Given the description of an element on the screen output the (x, y) to click on. 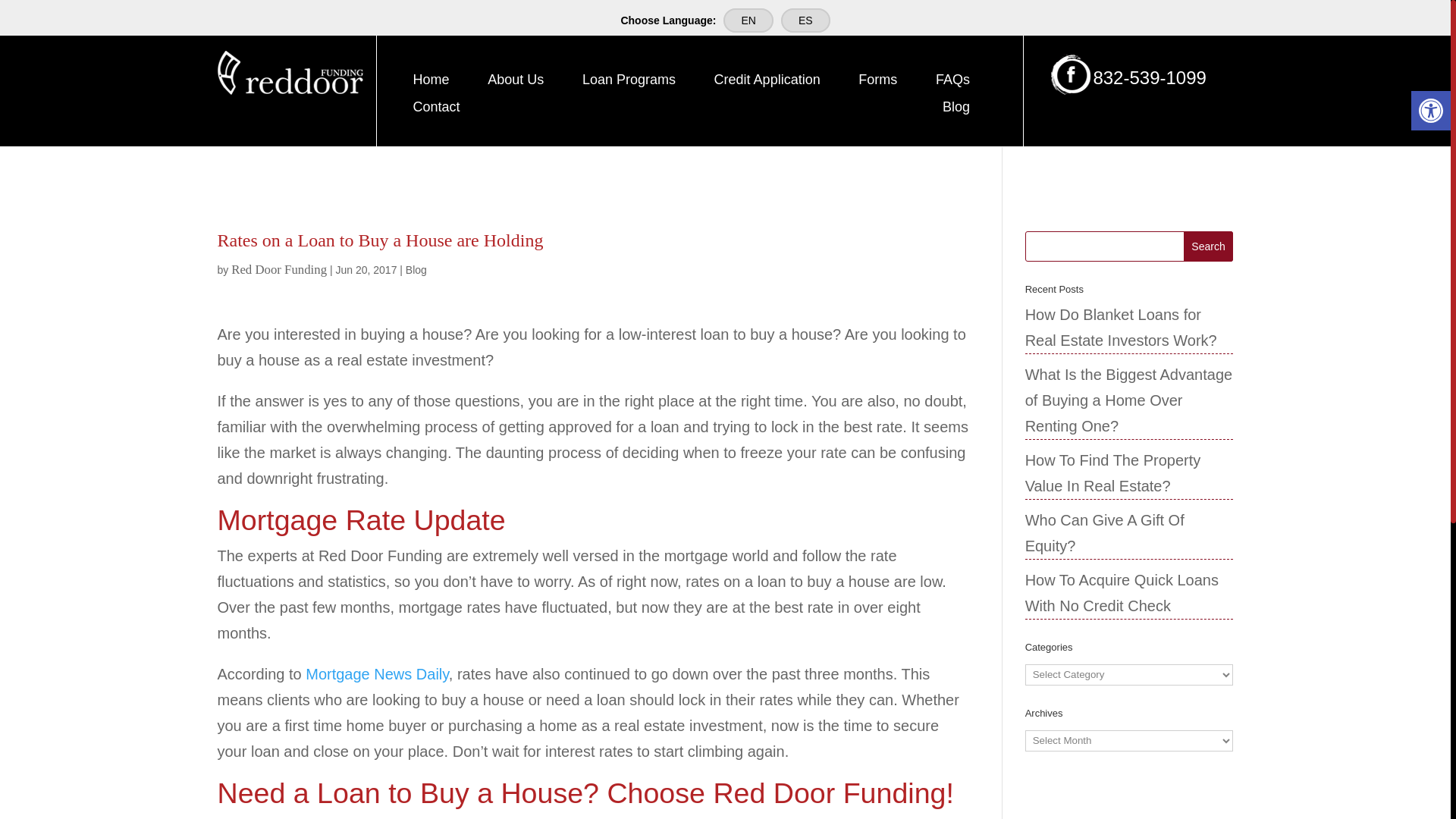
Blog (955, 109)
Forms (877, 82)
Search (1208, 245)
FAQs (952, 82)
About Us (515, 82)
Mortgage News Daily (376, 673)
Home (431, 82)
Search (1208, 245)
Posts by Red Door Funding (278, 269)
Credit Application (767, 82)
How To Find The Property Value In Real Estate? (1113, 473)
Who Can Give A Gift Of Equity? (1105, 532)
Red Door Funding (278, 269)
Loan Programs (628, 82)
